Given the description of an element on the screen output the (x, y) to click on. 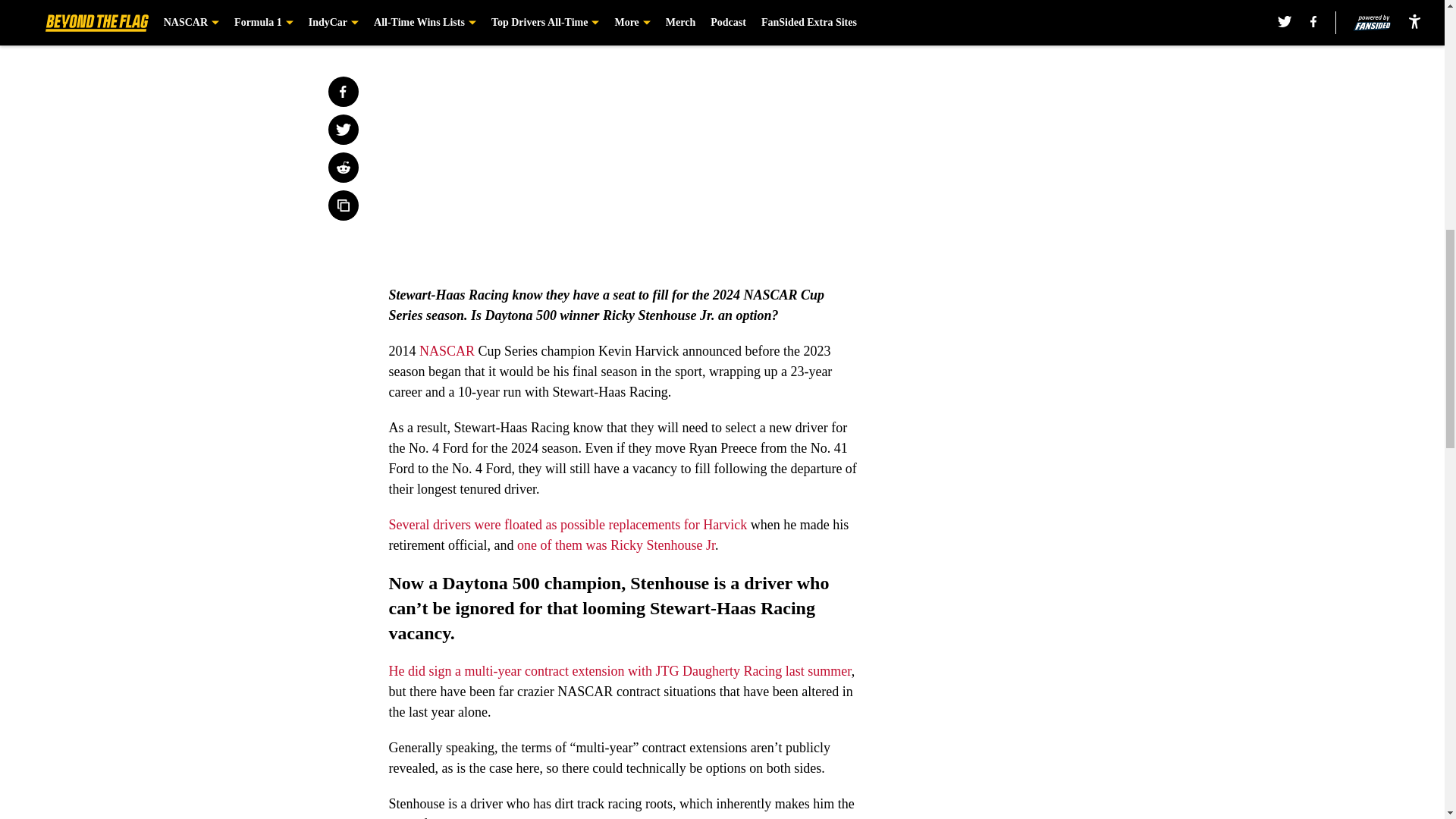
NASCAR (446, 350)
one of them was Ricky Stenhouse Jr (615, 544)
